Given the description of an element on the screen output the (x, y) to click on. 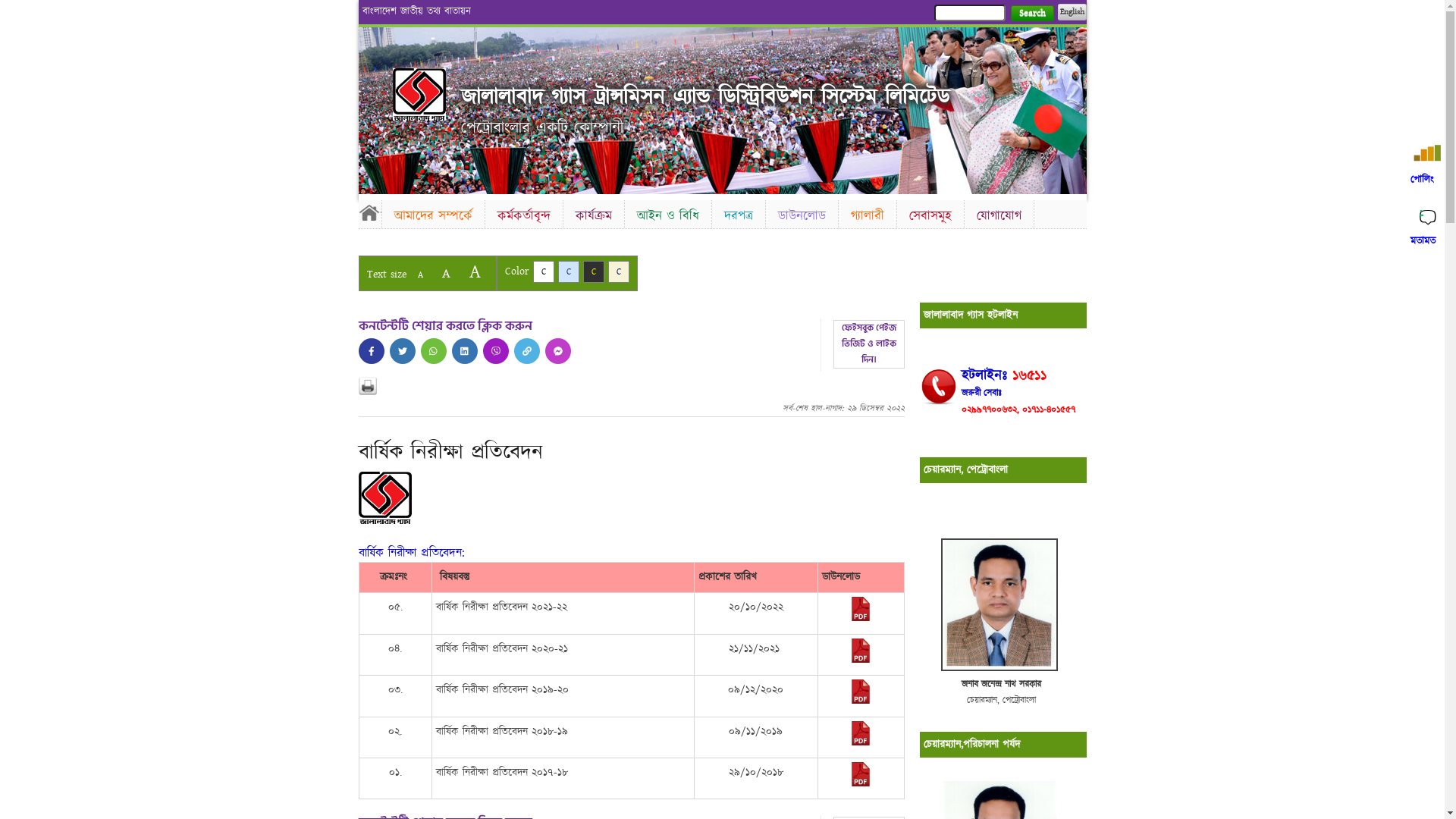
A Element type: text (474, 271)
English Element type: text (1071, 11)
C Element type: text (618, 271)
A Element type: text (445, 273)
C Element type: text (542, 271)
Home Element type: hover (418, 94)
C Element type: text (592, 271)
Search Element type: text (1031, 13)
A Element type: text (419, 274)
Home Element type: hover (368, 211)
C Element type: text (568, 271)
